Given the description of an element on the screen output the (x, y) to click on. 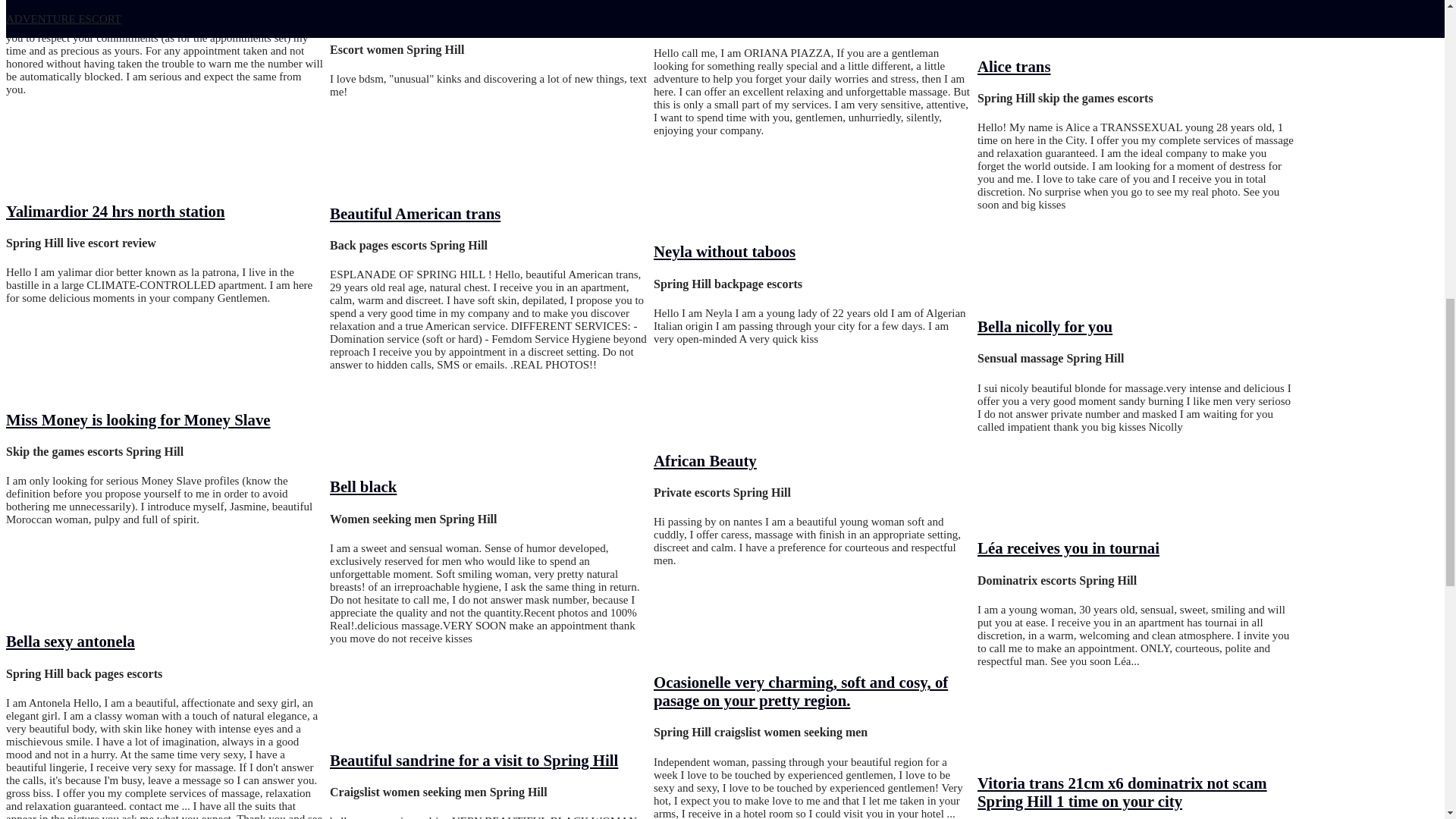
Bell black (363, 486)
Beautiful American trans (415, 212)
African Beauty (705, 460)
Beautiful sandrine for a visit to Spring Hill (473, 760)
Neyla without taboos (723, 251)
Enthusiastic trans (390, 17)
Bella sexy antonela (70, 641)
Yalimardior 24 hrs north station (114, 211)
Miss Money is looking for Money Slave (137, 419)
